Given the description of an element on the screen output the (x, y) to click on. 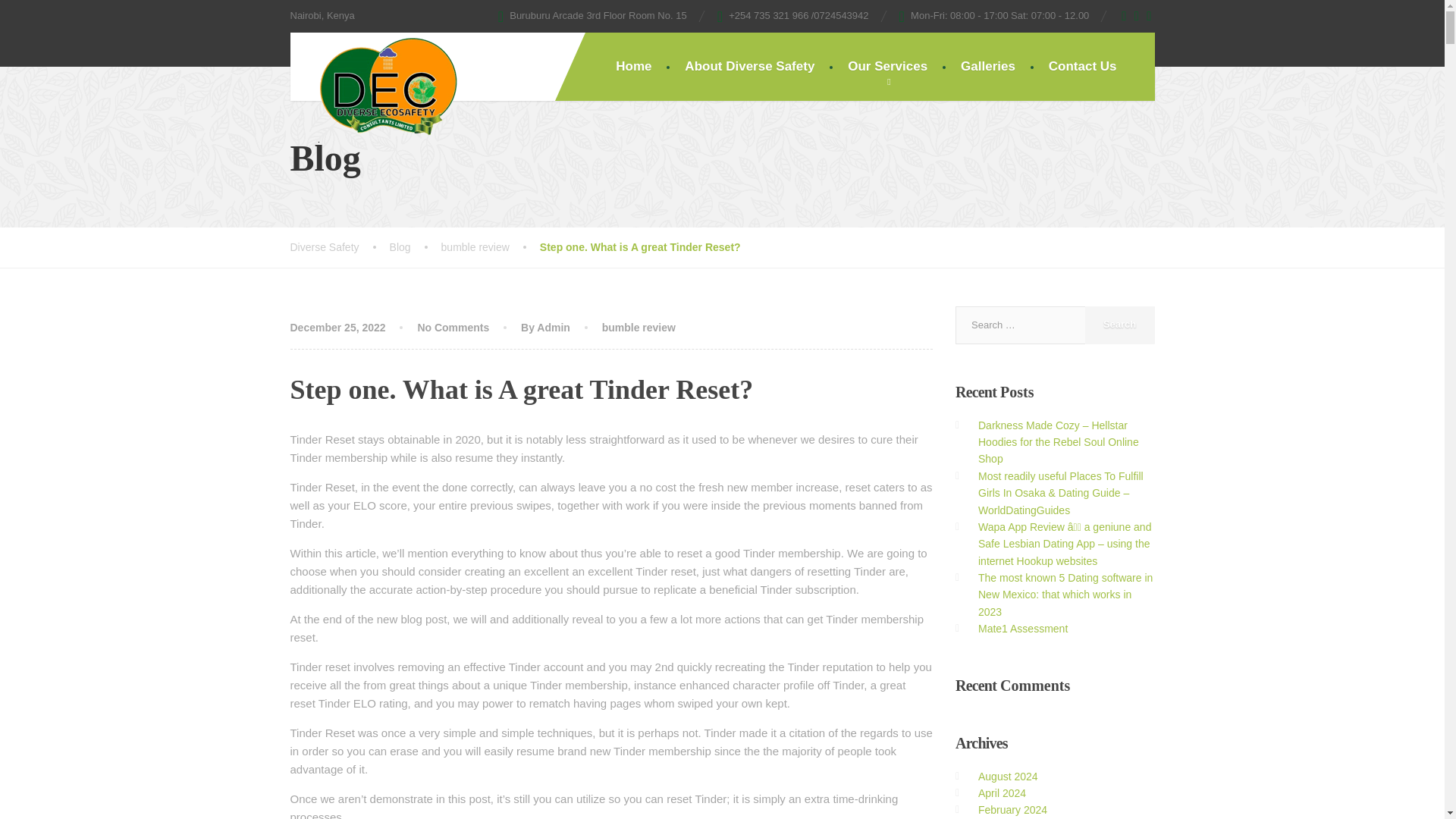
Diverse Safety (338, 246)
Go to Blog. (415, 246)
Our Services (887, 66)
Blog (415, 246)
Search (1119, 324)
bumble review (638, 327)
Go to Diverse Safety. (338, 246)
Contact Us (1082, 66)
